Given the description of an element on the screen output the (x, y) to click on. 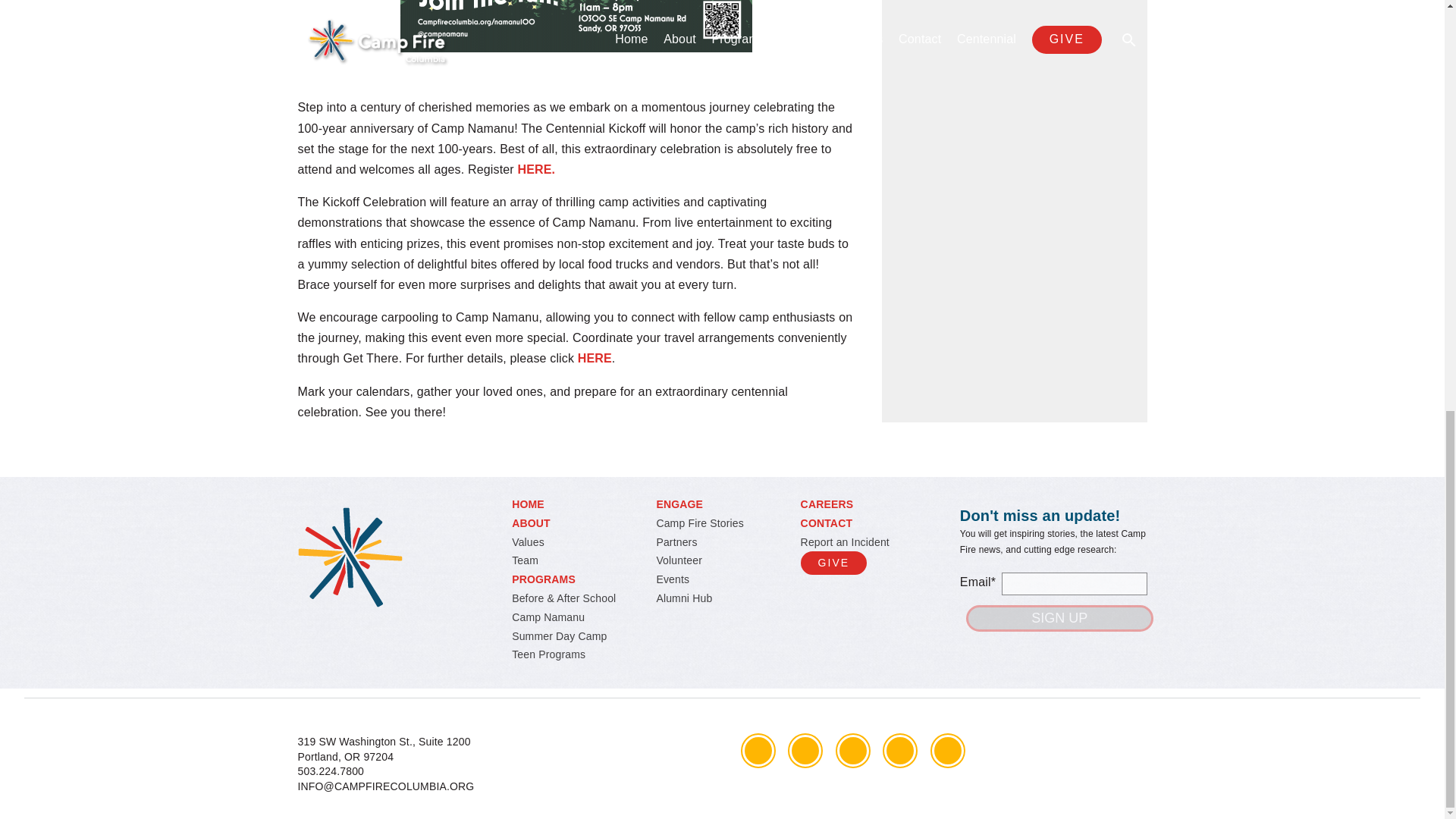
YouTube (899, 750)
LinkedIn (947, 750)
Facebook (757, 750)
Instagram (853, 750)
Twitter (805, 750)
